Given the description of an element on the screen output the (x, y) to click on. 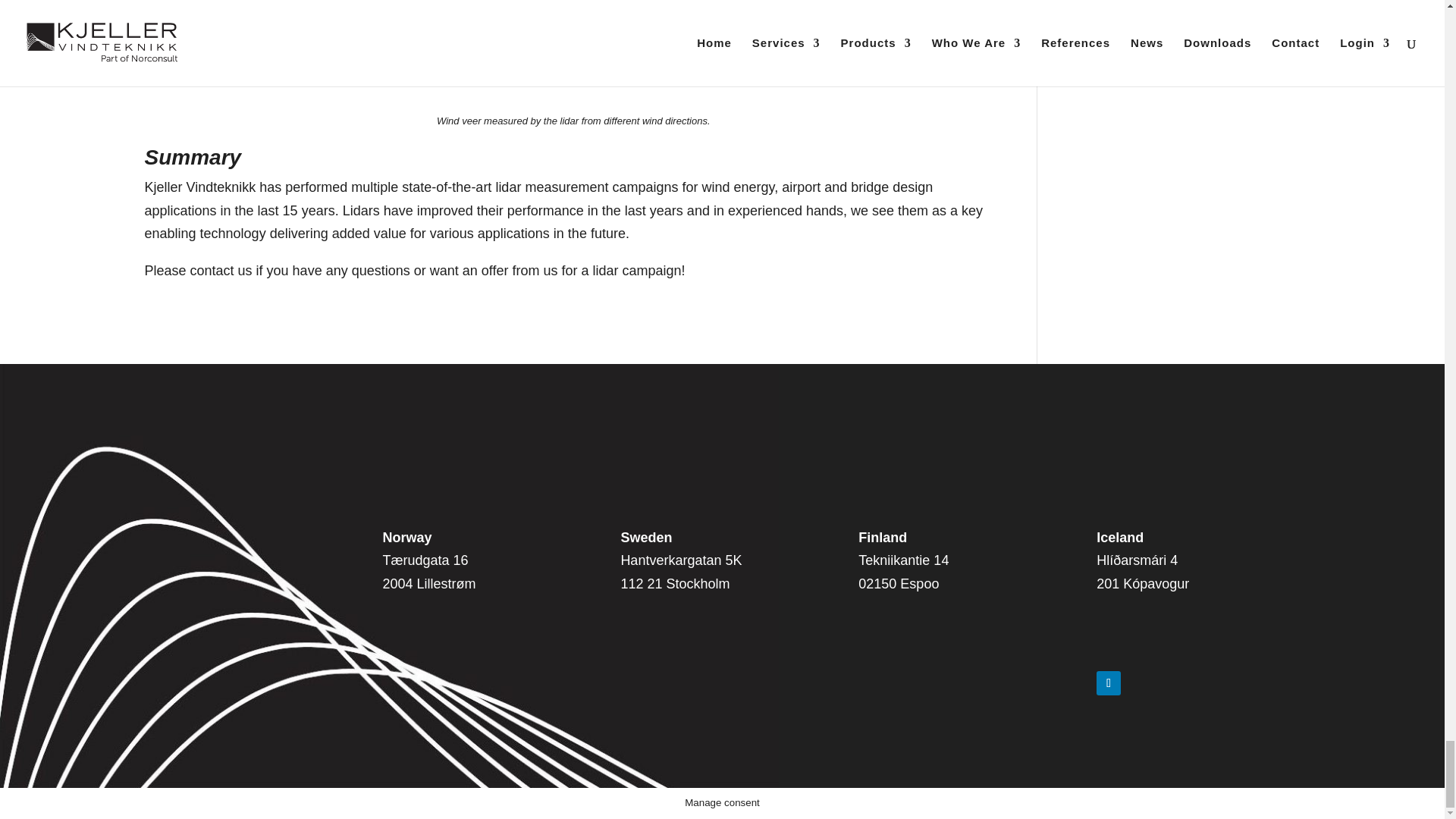
Follow on LinkedIn (1108, 682)
